Given the description of an element on the screen output the (x, y) to click on. 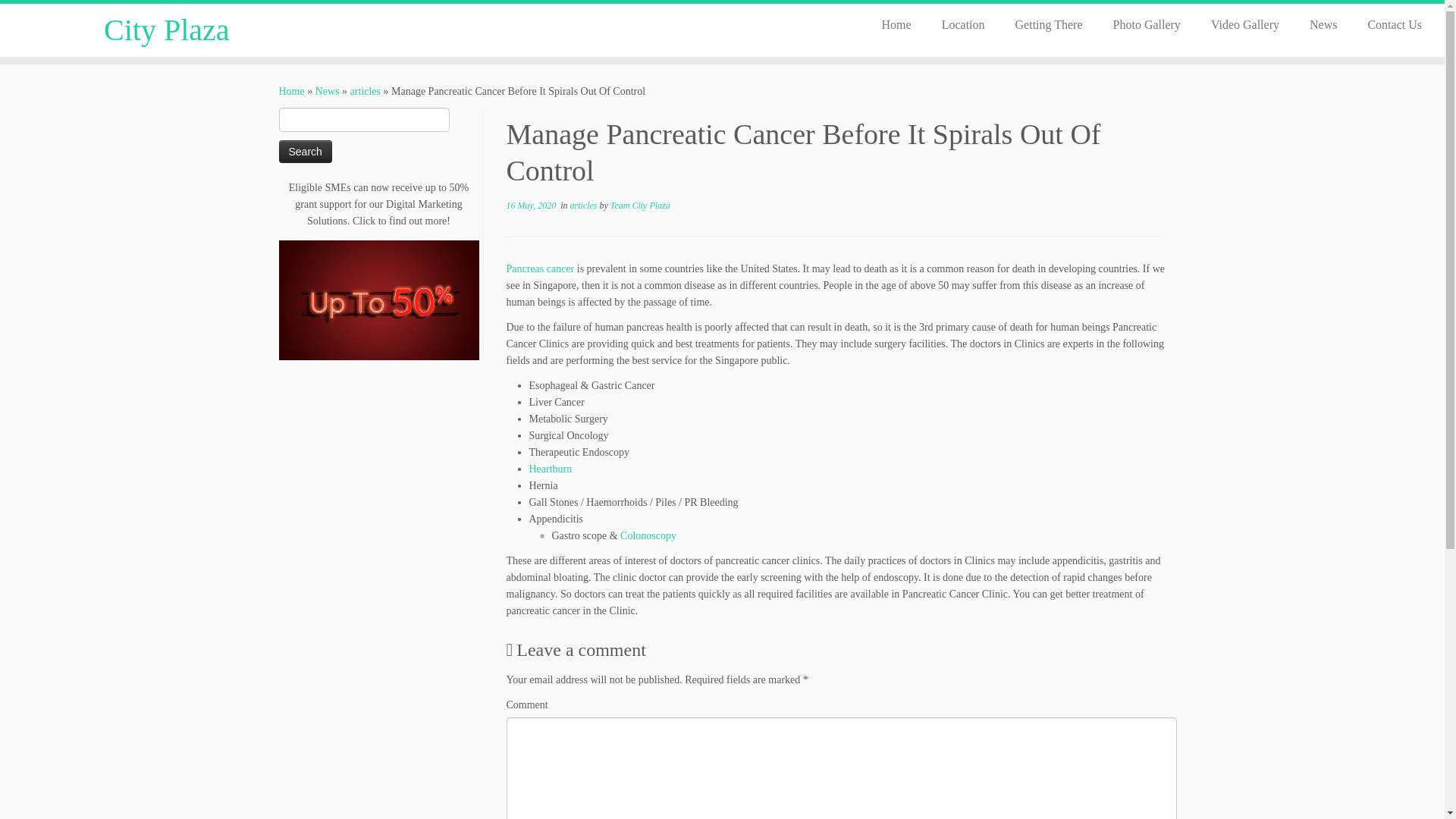
News (1323, 24)
Search (305, 151)
Heartburn Symptoms (550, 469)
Home (291, 91)
City Plaza (291, 91)
Contact Us (1387, 24)
3:55 pm (531, 204)
Colonoscopy Symptoms (648, 535)
Pancreas Cancer Symptoms (540, 268)
articles (365, 91)
